Given the description of an element on the screen output the (x, y) to click on. 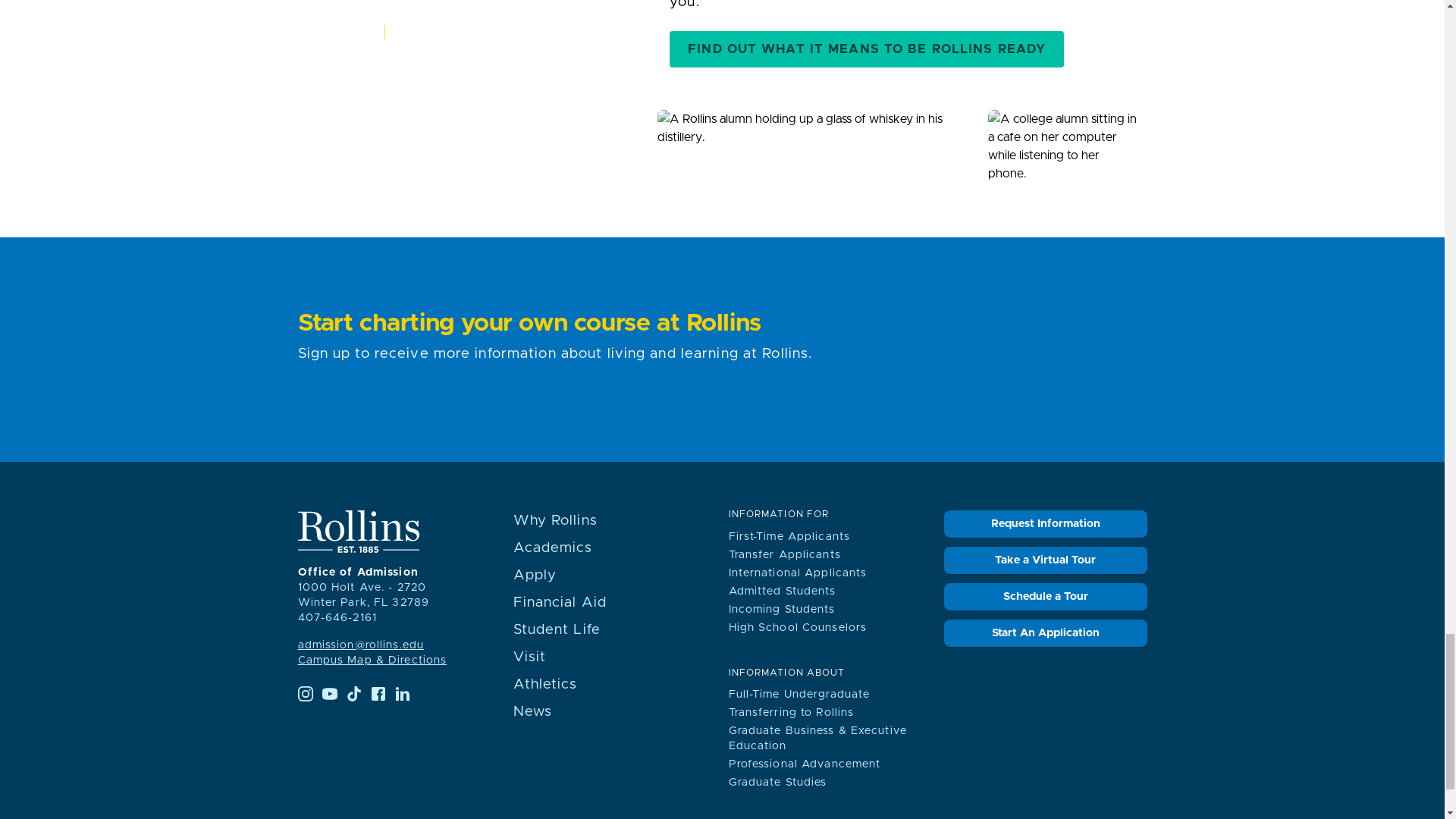
Transferring to Rollins (790, 712)
Academics (552, 547)
Professional Advancement (804, 763)
Financial Aid (559, 602)
Schedule a Tour (1045, 596)
News (531, 711)
Admitted Students (781, 591)
Start An Application (1045, 633)
Visit (529, 657)
FIND OUT WHAT IT MEANS TO BE ROLLINS READY (866, 49)
